Given the description of an element on the screen output the (x, y) to click on. 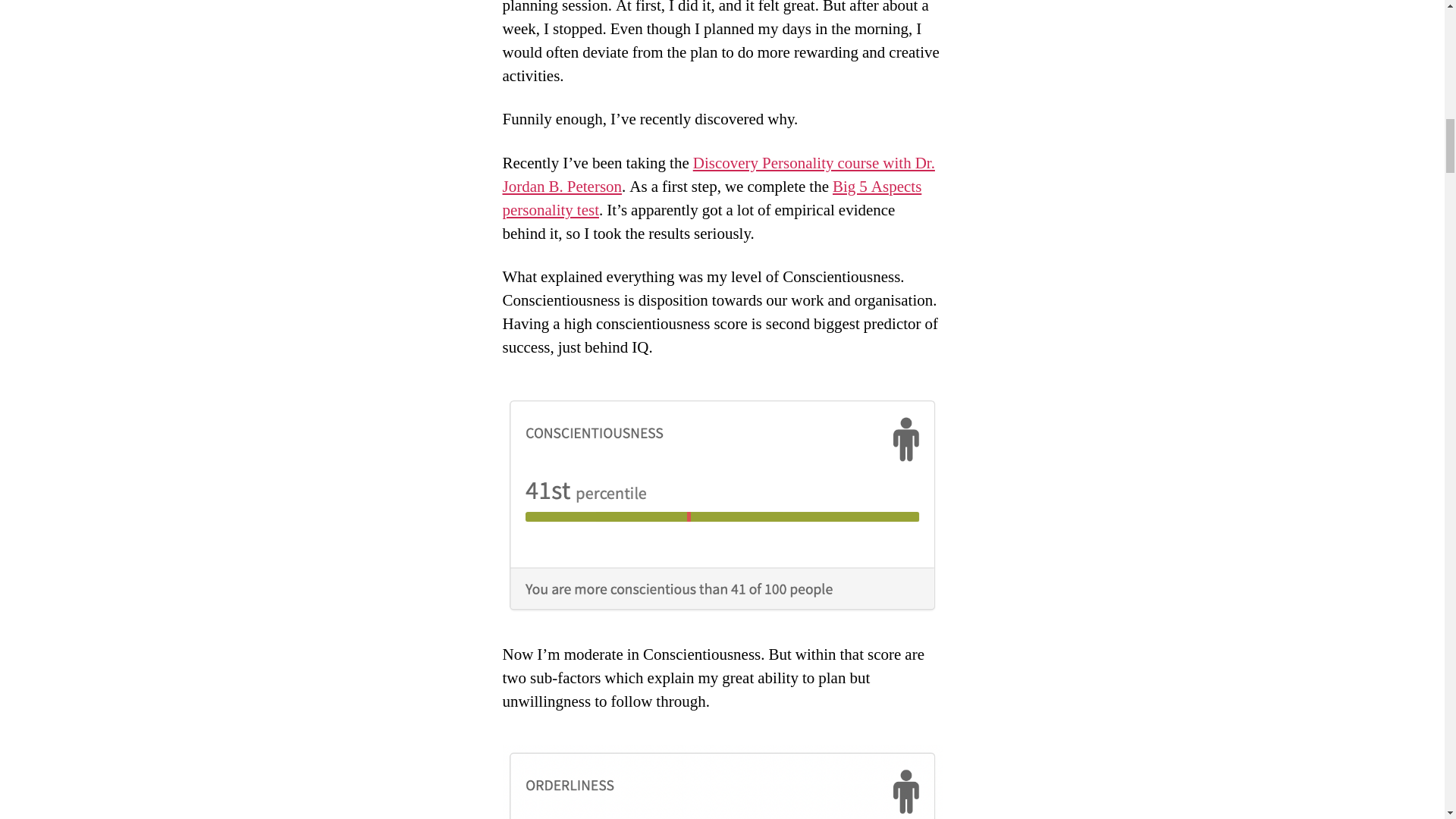
Big 5 Aspects personality test (711, 198)
Discovery Personality course with Dr. Jordan B. Peterson (718, 175)
